Given the description of an element on the screen output the (x, y) to click on. 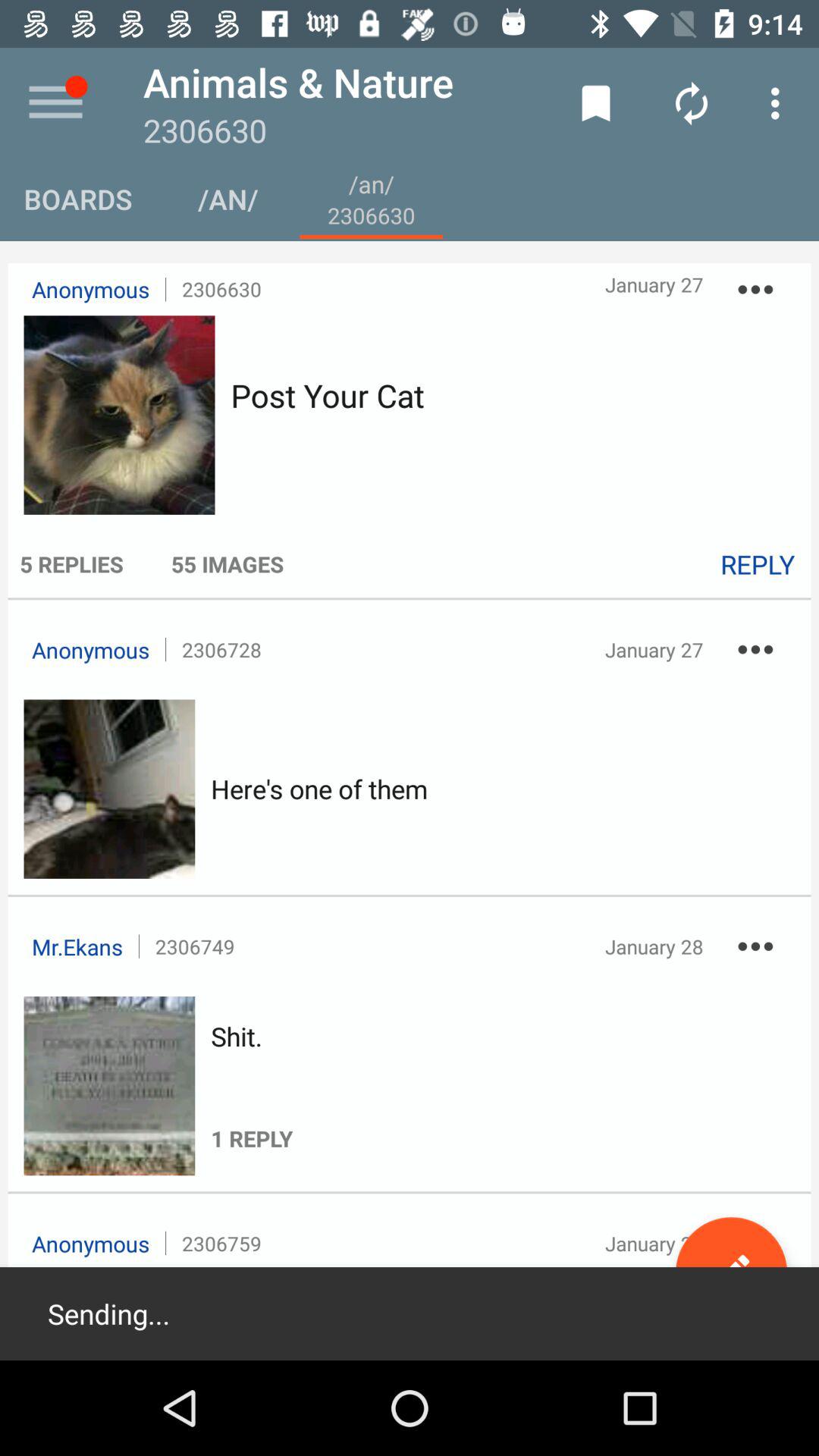
turn off item below the shit. item (251, 1103)
